Given the description of an element on the screen output the (x, y) to click on. 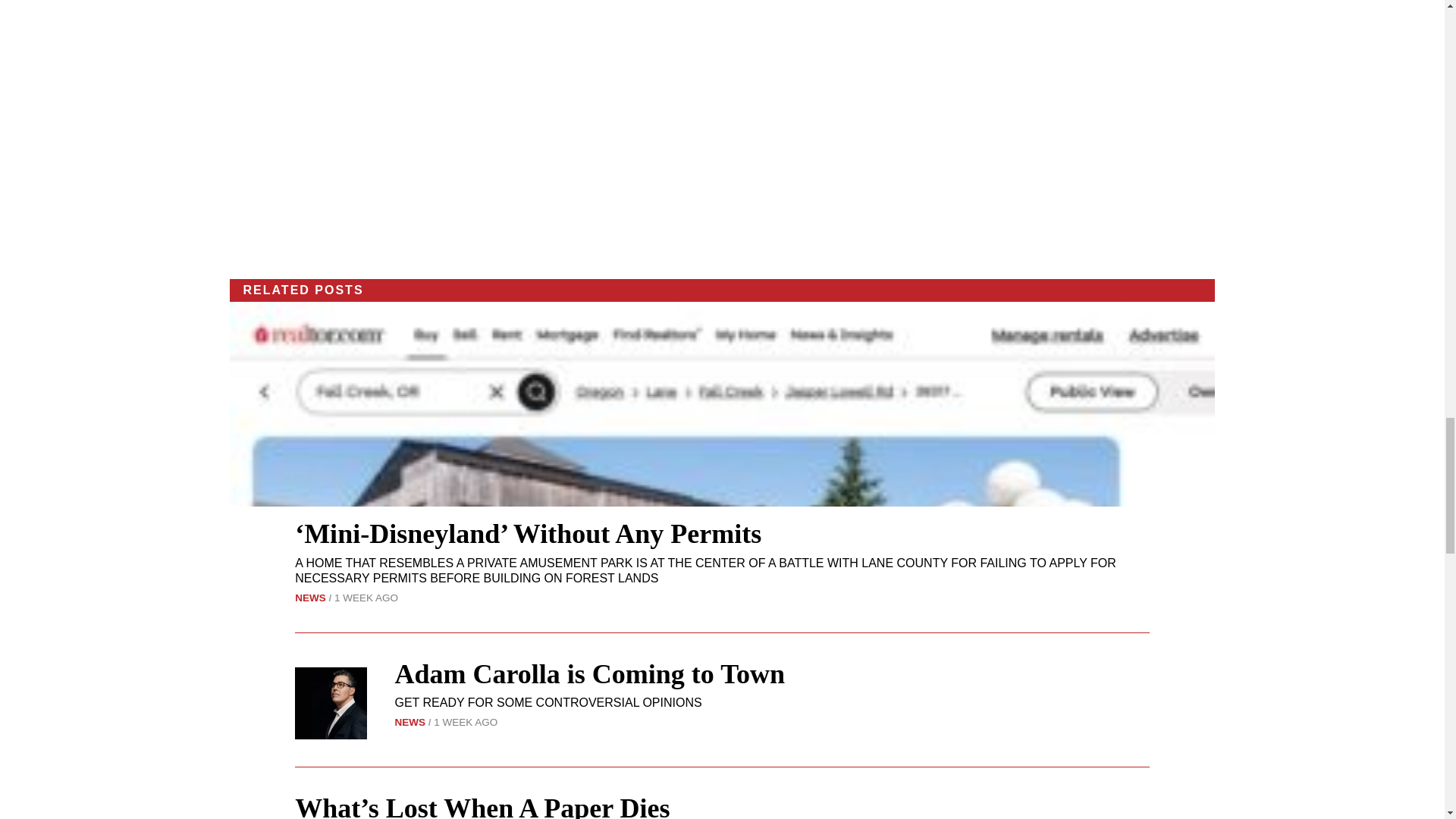
3rd party ad content (721, 129)
